Given the description of an element on the screen output the (x, y) to click on. 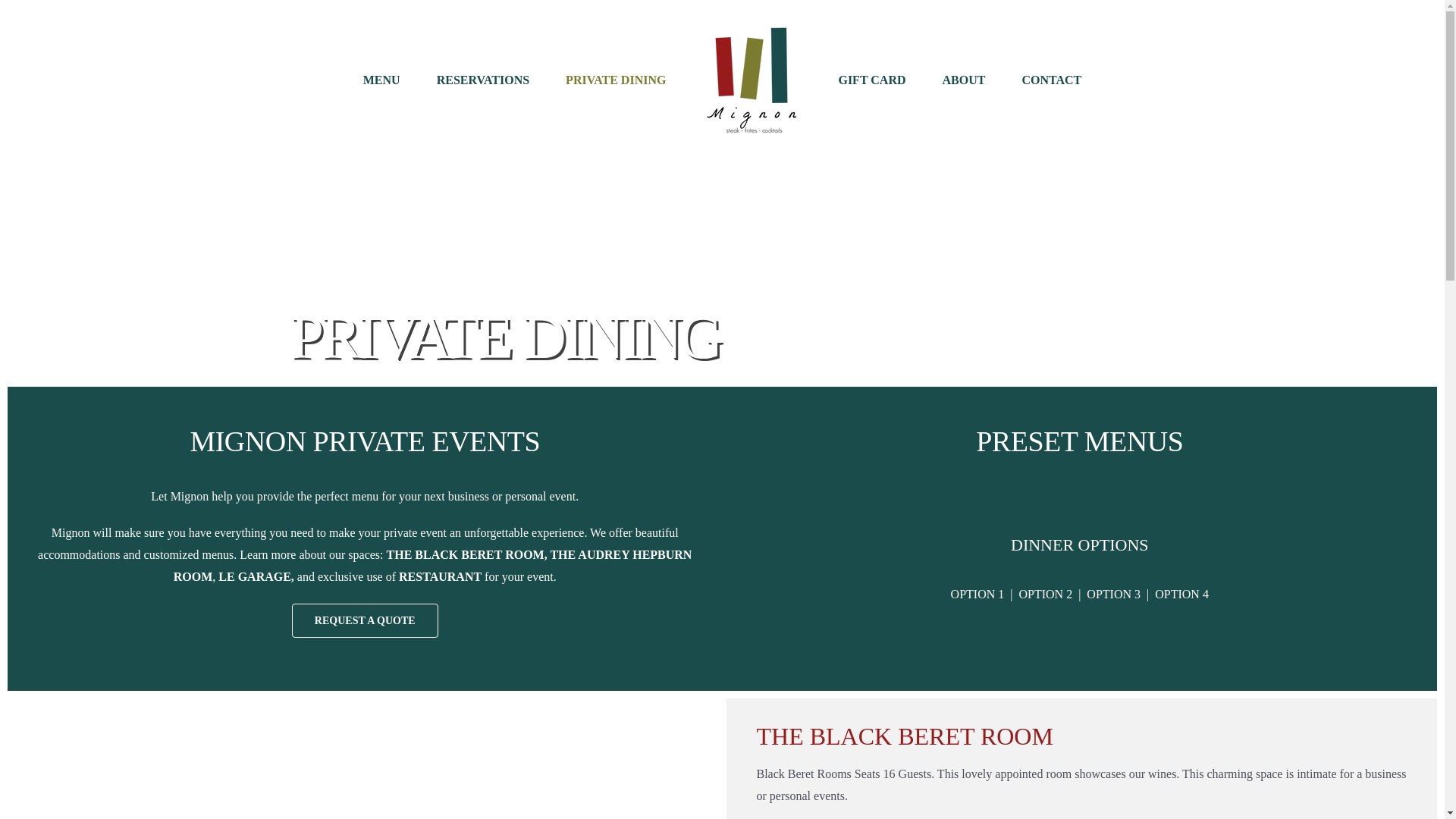
THE AUDREY HEPBURN ROOM (433, 565)
PRIVATE DINING (615, 80)
REQUEST A QUOTE (365, 620)
GIFT CARD (871, 80)
OPTION 2 (1044, 594)
RESERVATIONS (482, 80)
REQUEST A QUOTE (365, 620)
CONTACT (1051, 80)
GIFT CARD (871, 80)
OPTION 1 (977, 594)
